Given the description of an element on the screen output the (x, y) to click on. 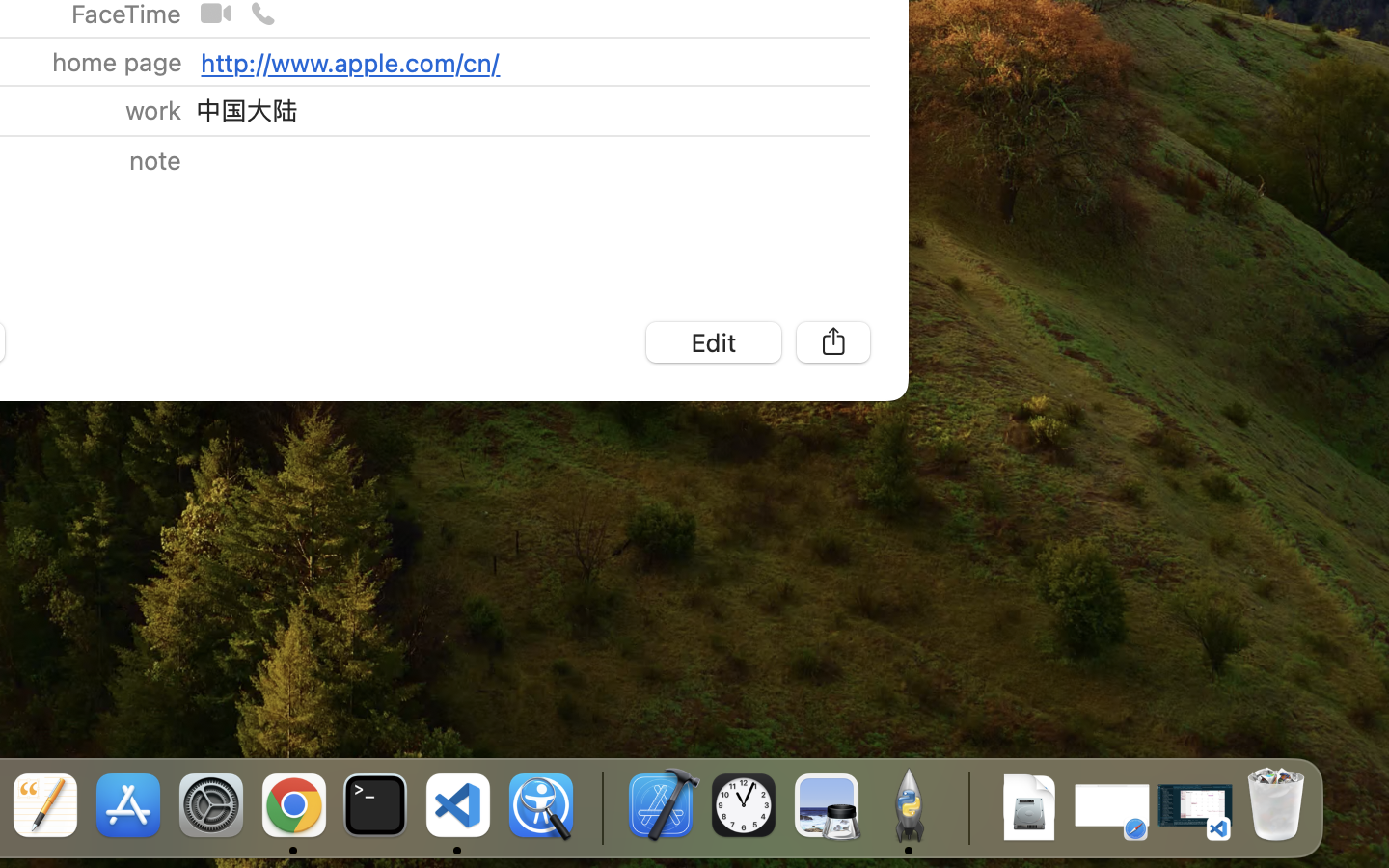
work Element type: AXStaticText (153, 109)
